Given the description of an element on the screen output the (x, y) to click on. 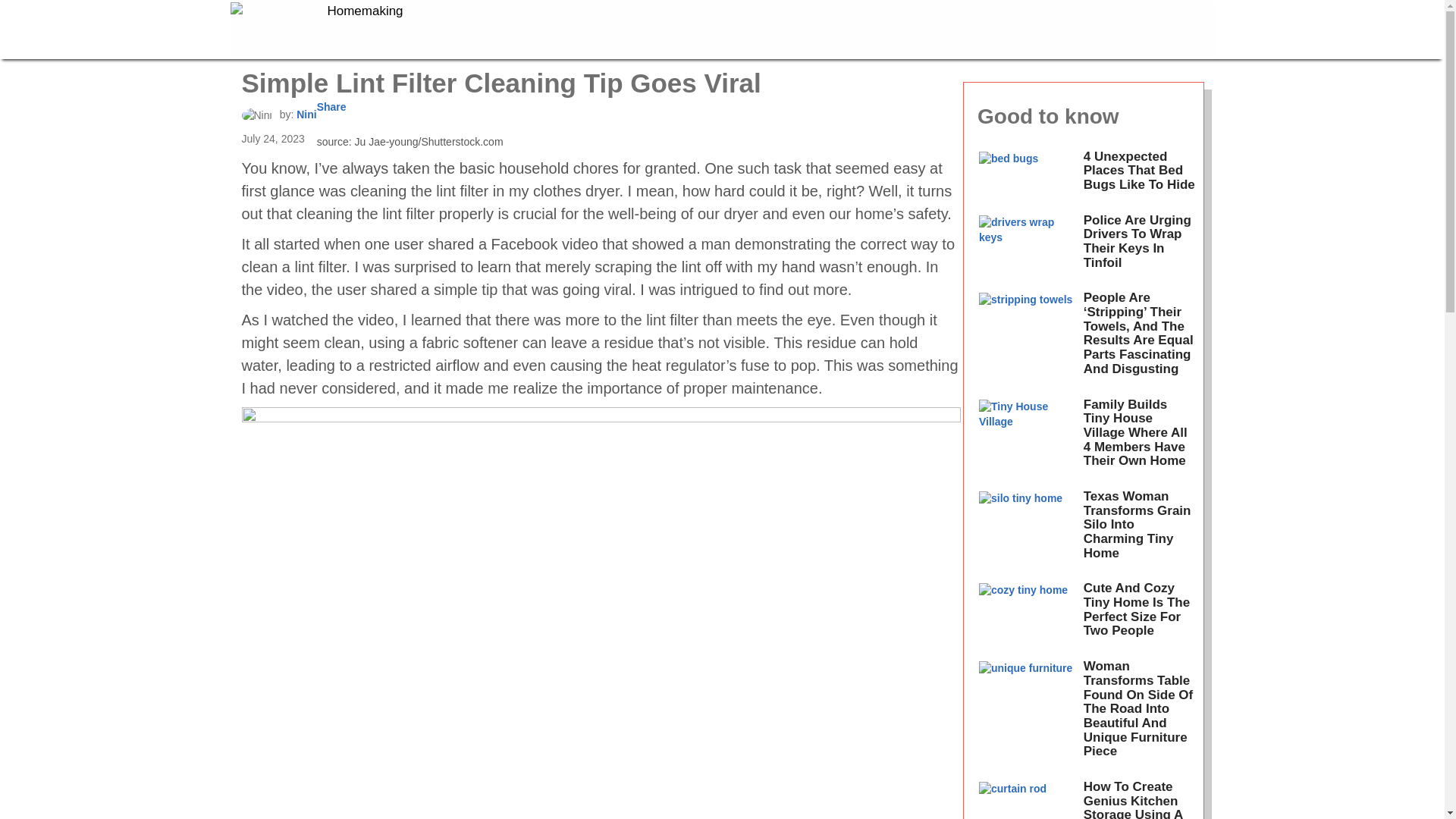
Nini (306, 114)
Police Are Urging Drivers To Wrap Their Keys In Tinfoil (1137, 241)
Read more (1027, 529)
Read more (1027, 176)
4 Unexpected Places That Bed Bugs Like To Hide (1139, 170)
Read more (1027, 438)
Nini (255, 115)
Read more (1027, 796)
Share (331, 106)
Home (358, 28)
Read more (1027, 338)
Read more (1027, 246)
Read more (1027, 614)
